Given the description of an element on the screen output the (x, y) to click on. 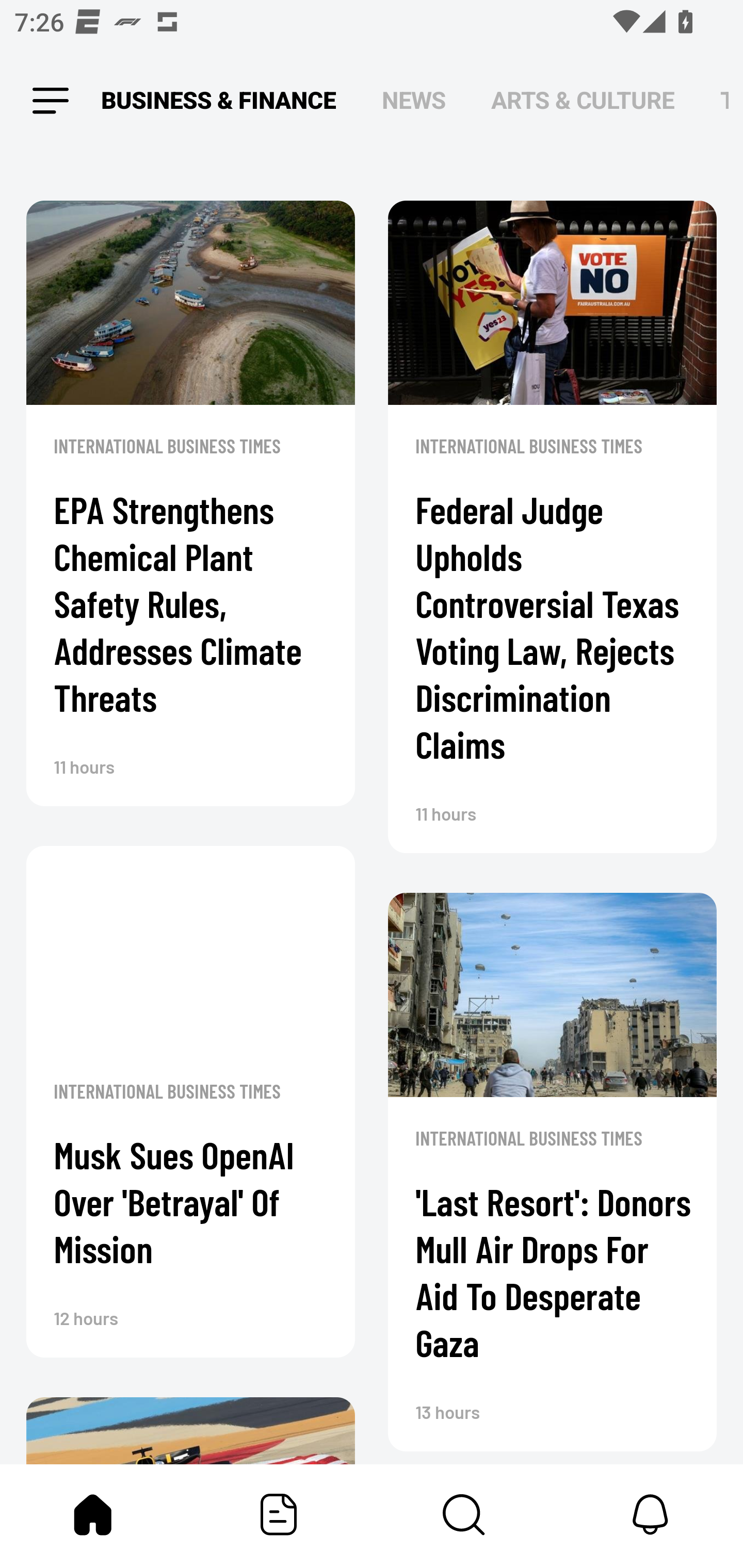
Leading Icon (50, 101)
NEWS (413, 100)
ARTS & CULTURE (582, 100)
Featured (278, 1514)
Content Store (464, 1514)
Notifications (650, 1514)
